Given the description of an element on the screen output the (x, y) to click on. 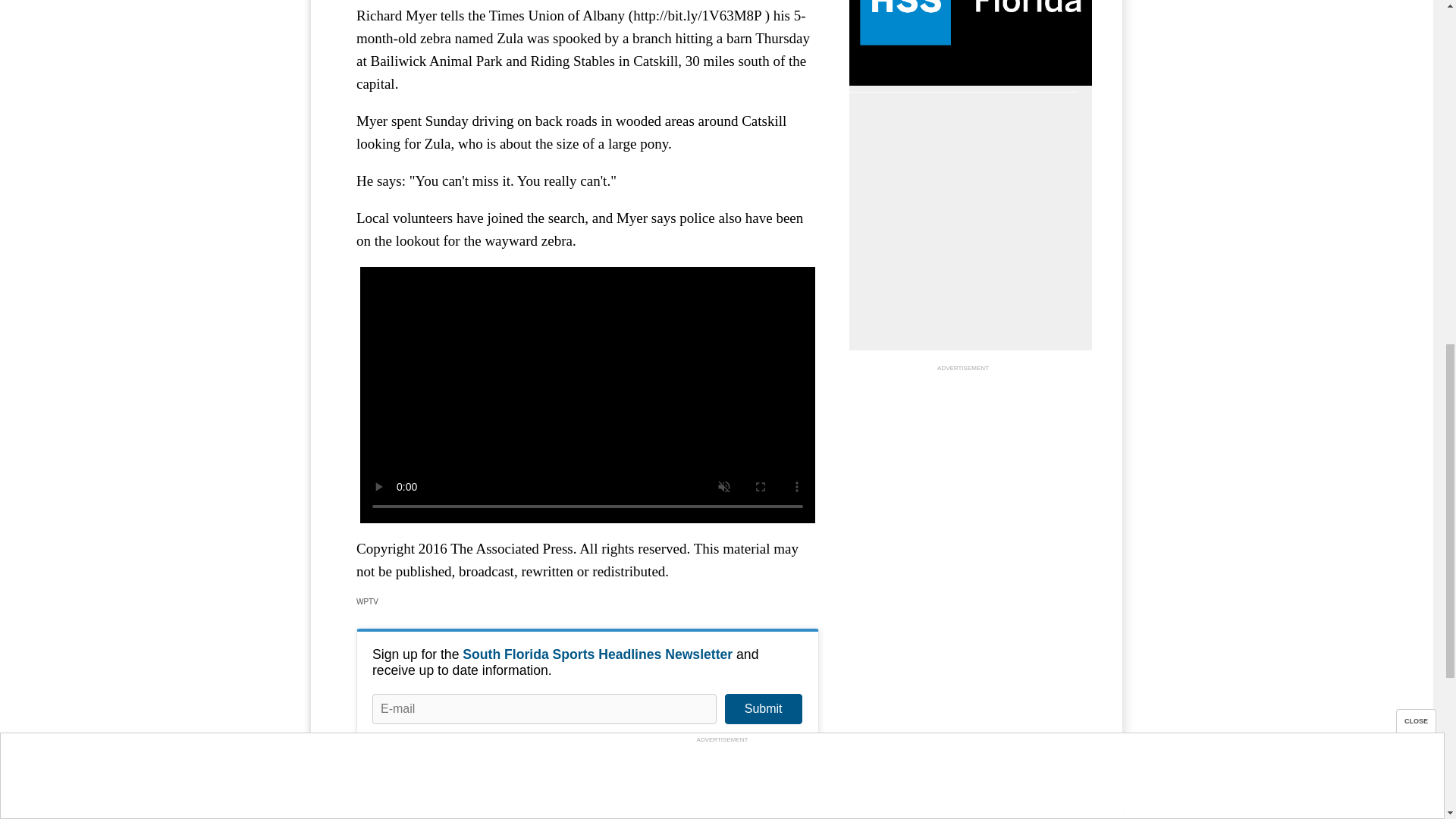
3rd party ad content (962, 470)
Submit (763, 708)
